Given the description of an element on the screen output the (x, y) to click on. 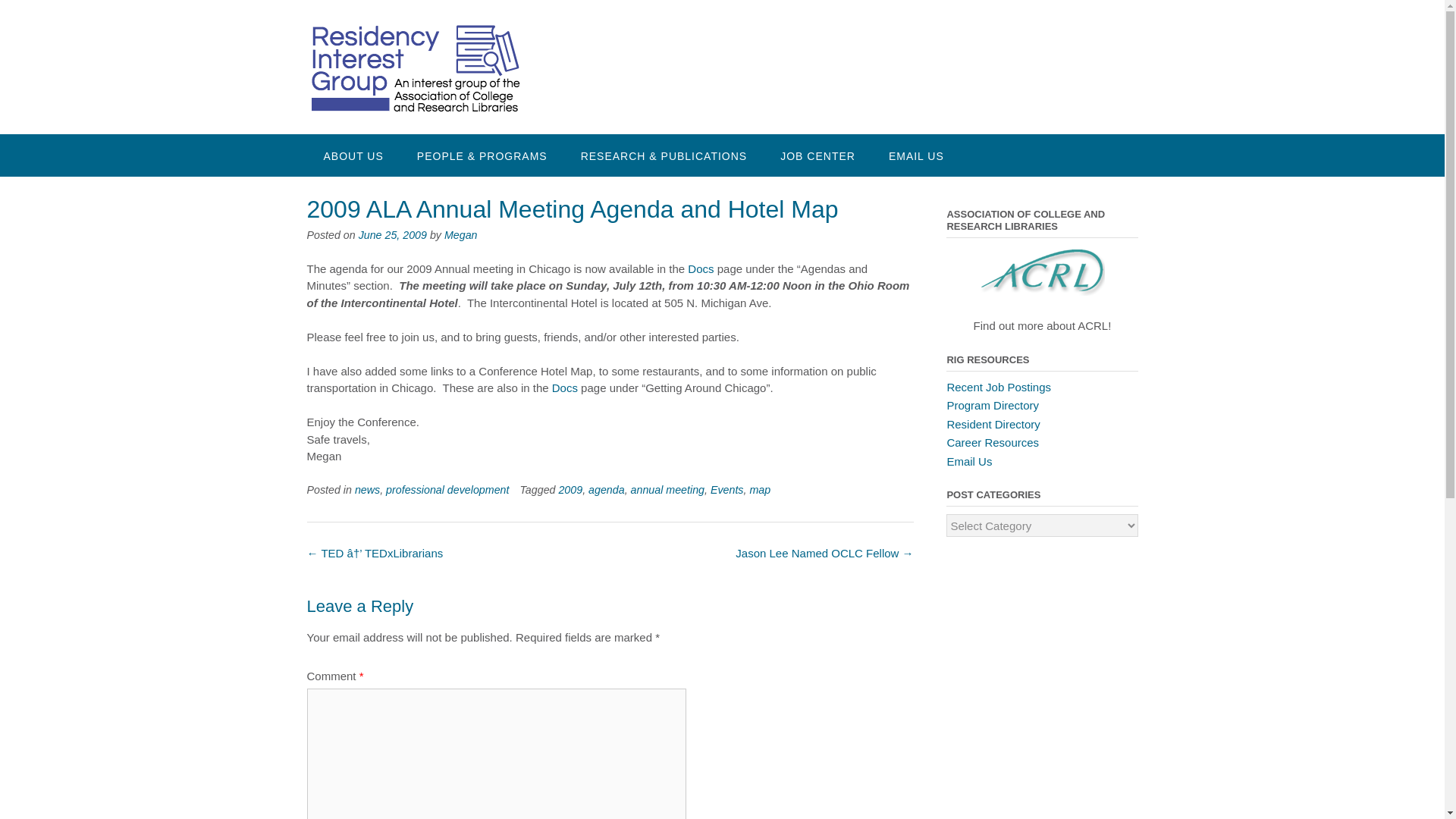
agenda (606, 490)
Program Directory (992, 404)
Email Us (968, 461)
Resident Directory (992, 422)
Docs (564, 387)
Career Resources (992, 441)
map (759, 490)
Recent Job Postings (998, 386)
Megan (460, 234)
professional development (446, 490)
